Given the description of an element on the screen output the (x, y) to click on. 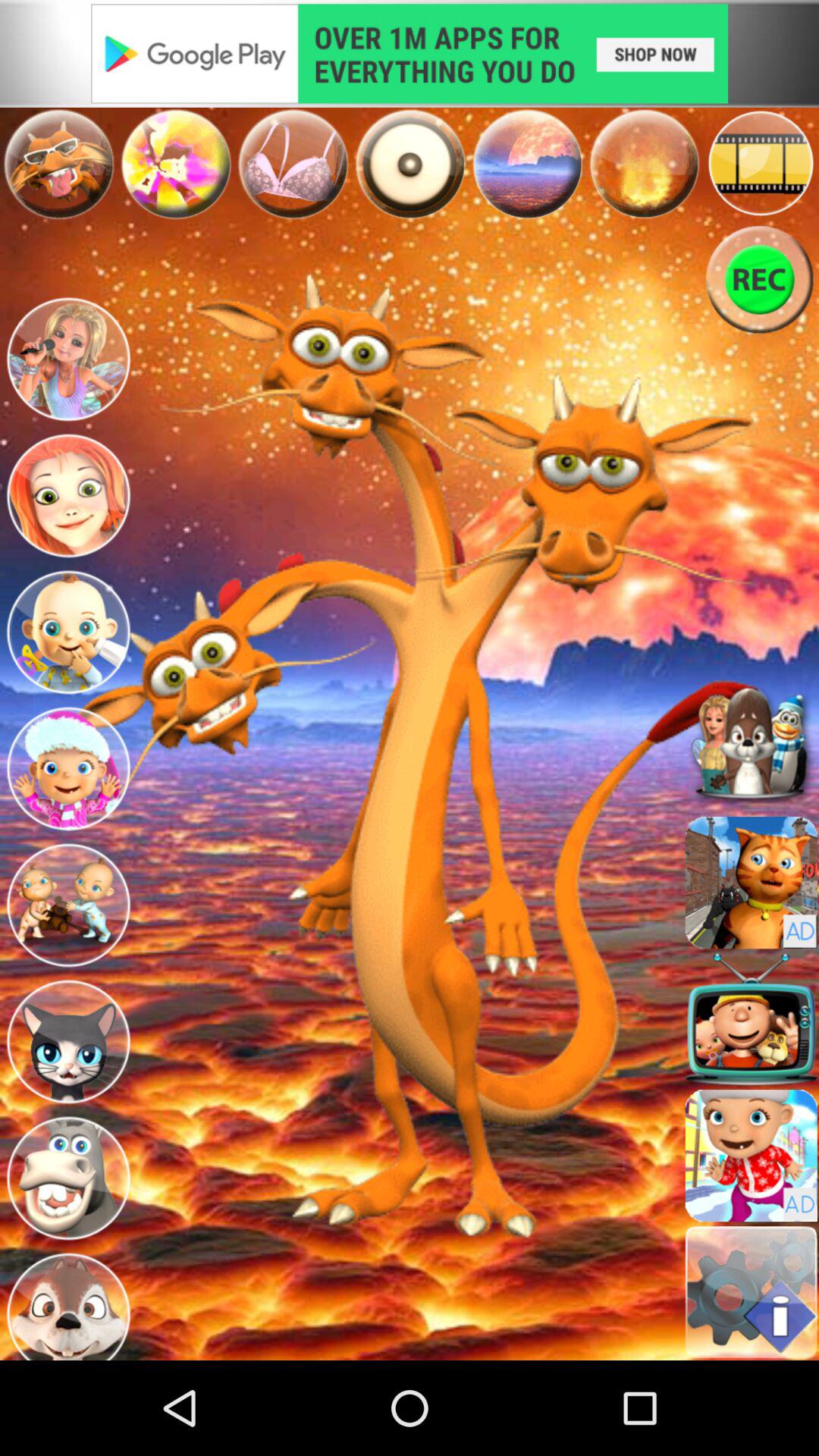
go to settings (751, 1291)
